Given the description of an element on the screen output the (x, y) to click on. 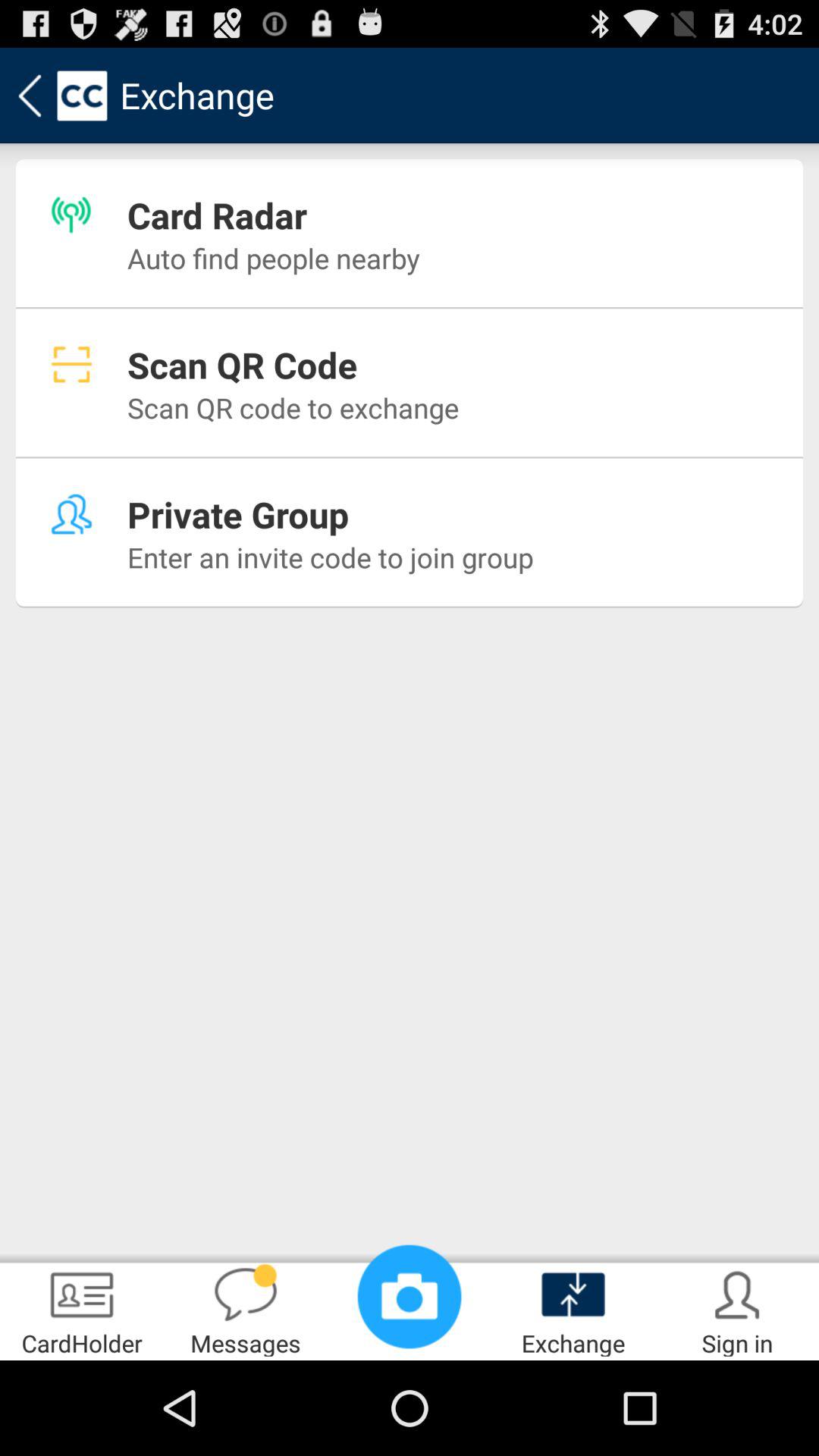
tap icon to the right of the exchange icon (737, 1309)
